Given the description of an element on the screen output the (x, y) to click on. 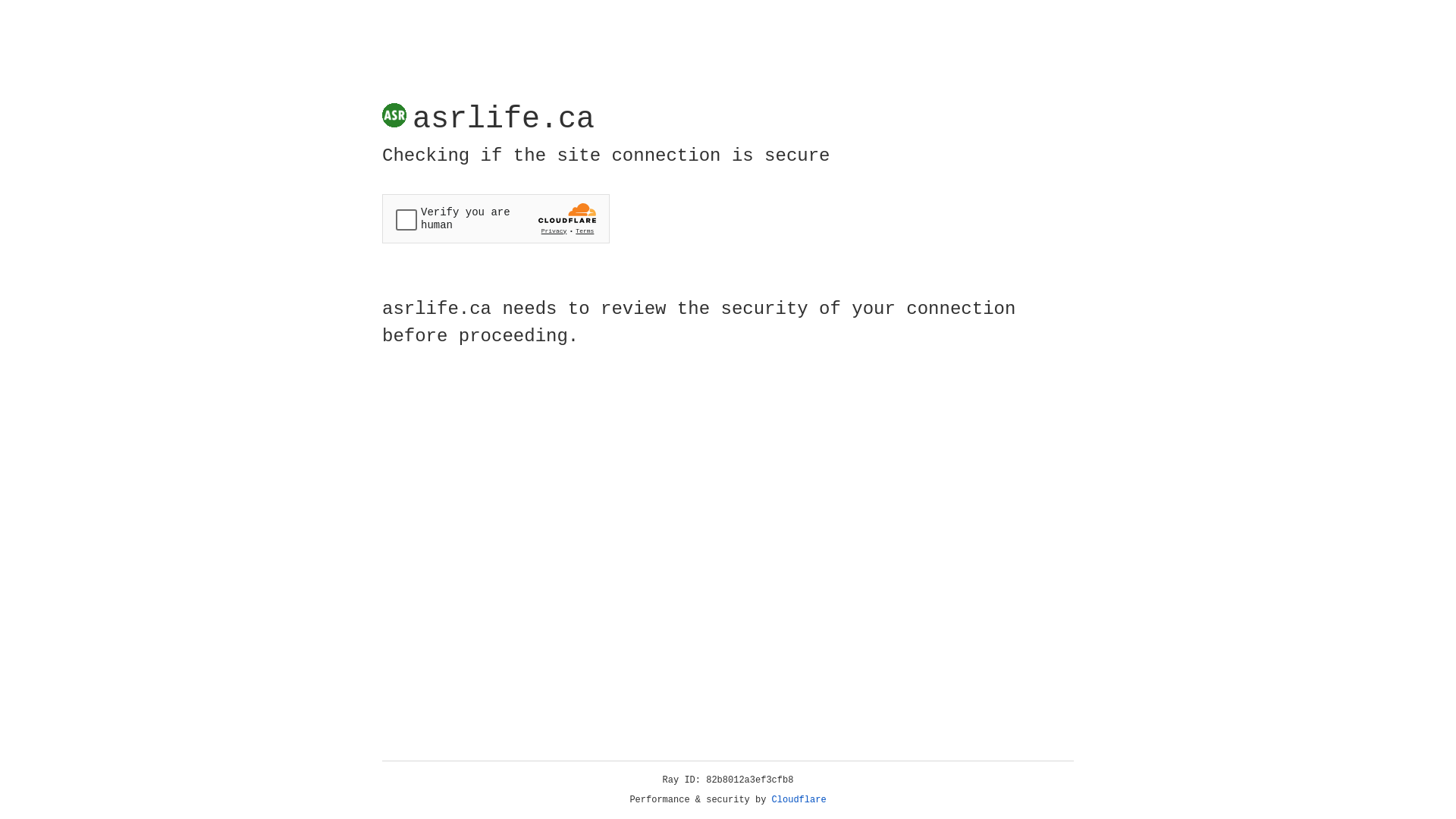
Cloudflare Element type: text (798, 799)
Widget containing a Cloudflare security challenge Element type: hover (495, 218)
